Given the description of an element on the screen output the (x, y) to click on. 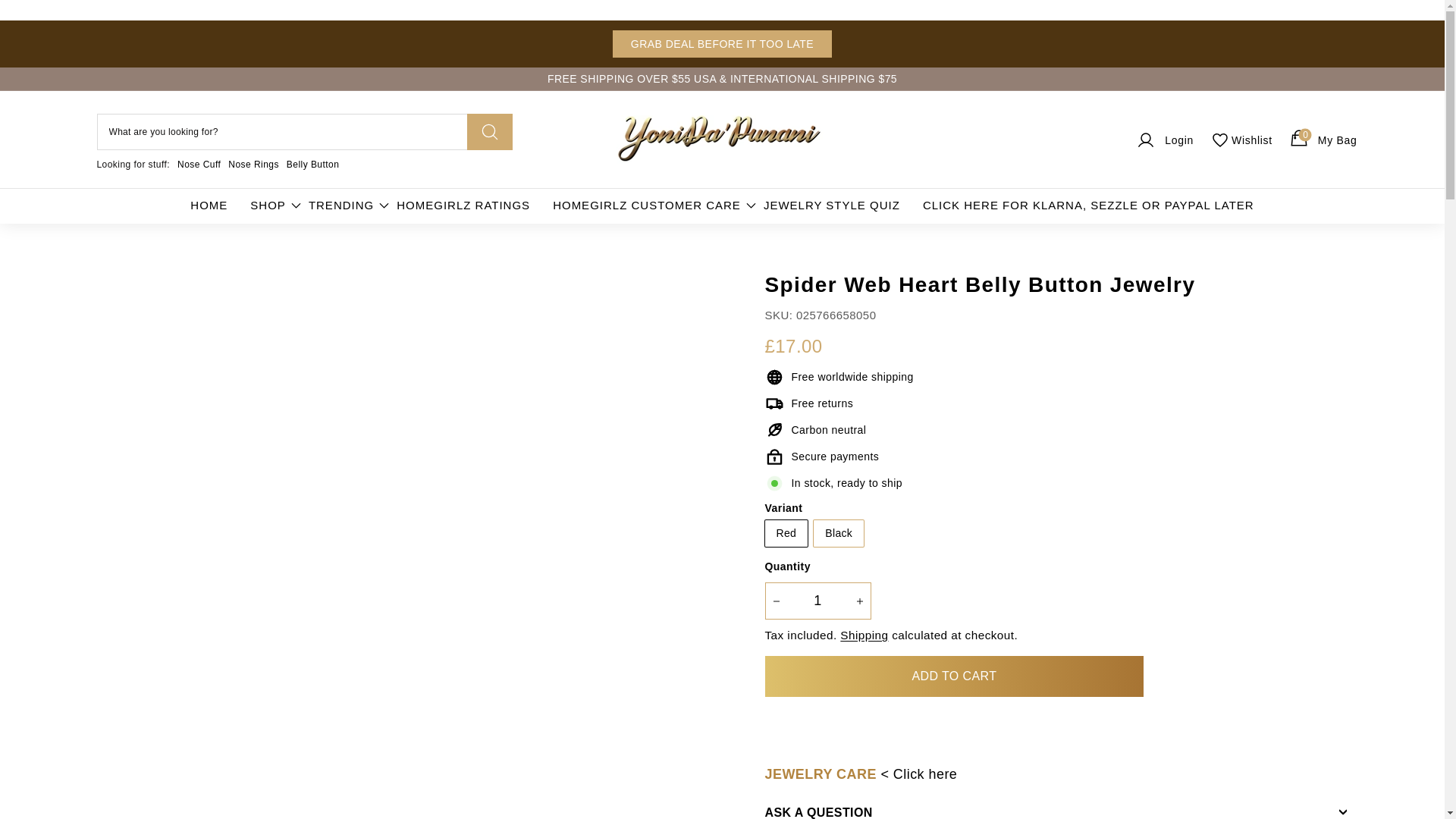
Nose Cuff (199, 163)
SHOP (267, 205)
Belly Button (312, 163)
Nose Rings (253, 163)
Login (1163, 140)
Black (1321, 139)
Wishlist (817, 600)
GRAB DEAL BEFORE IT TOO LATE (1240, 140)
HOME (721, 43)
Red (208, 205)
